Given the description of an element on the screen output the (x, y) to click on. 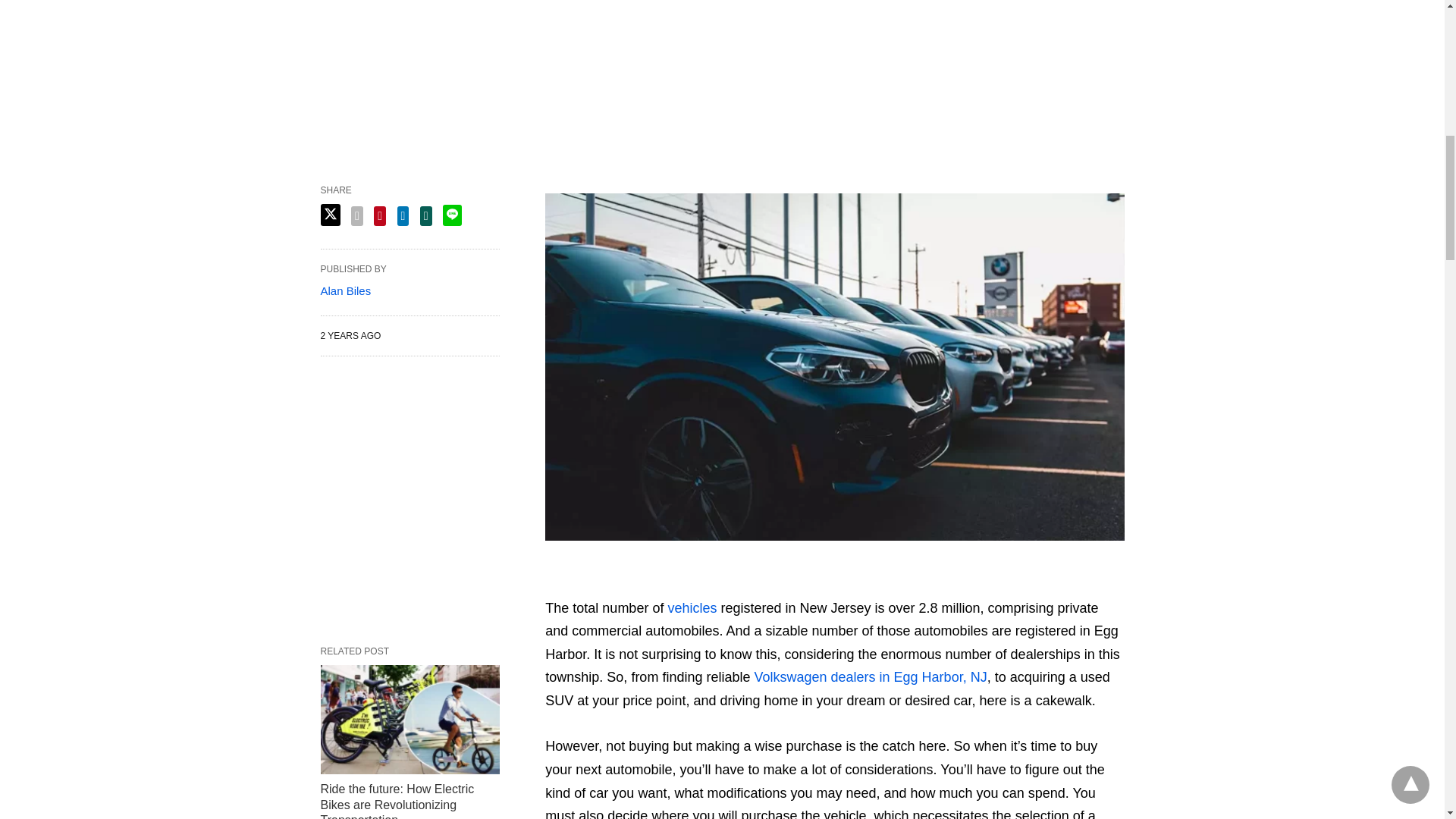
Volkswagen dealers in Egg Harbor, NJ (870, 676)
Alan Biles (345, 290)
3rd party ad content (409, 500)
vehicles (693, 607)
3rd party ad content (721, 71)
line share (451, 215)
Alan Biles (345, 290)
